Given the description of an element on the screen output the (x, y) to click on. 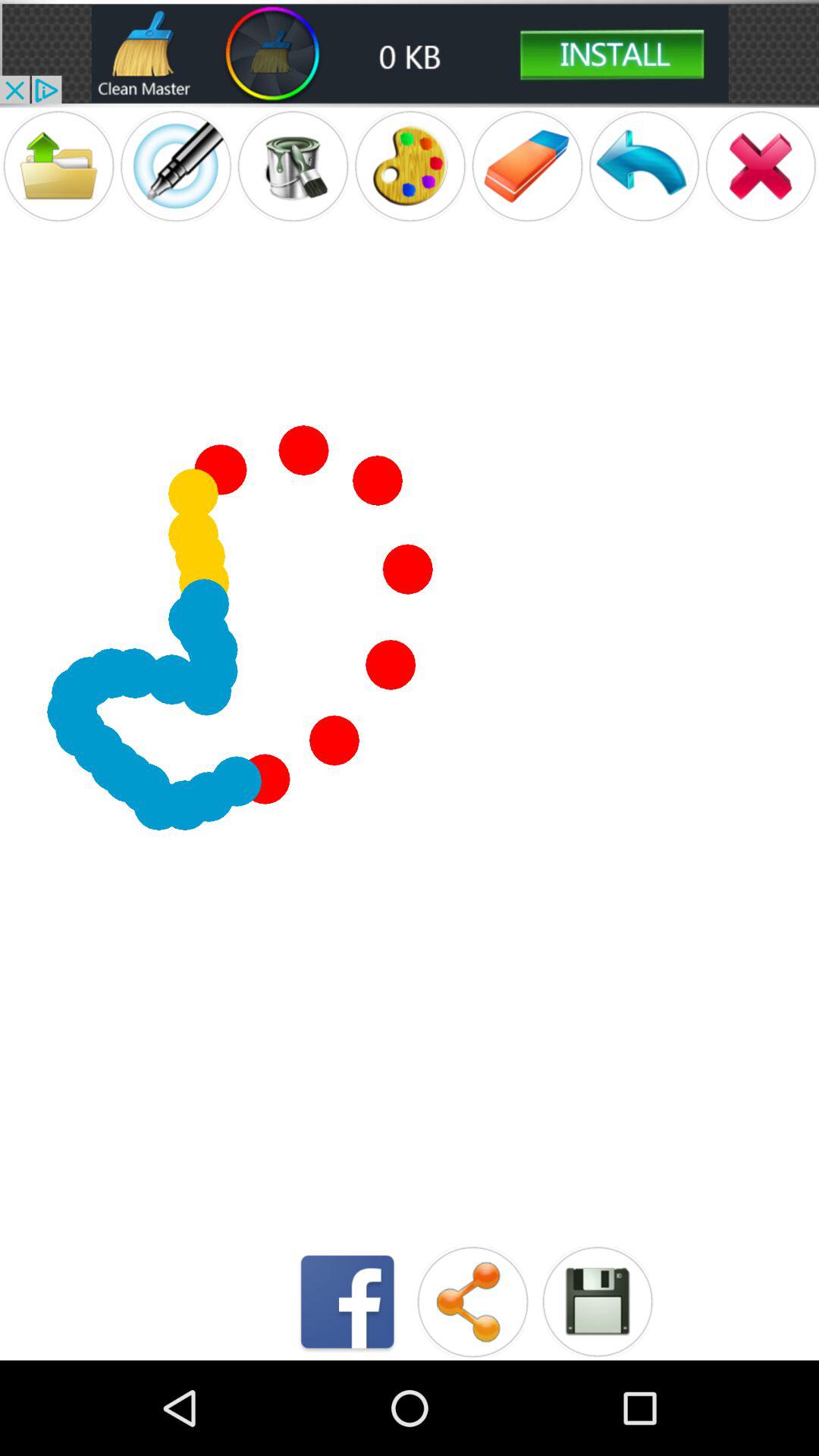
go to previous (643, 165)
